Given the description of an element on the screen output the (x, y) to click on. 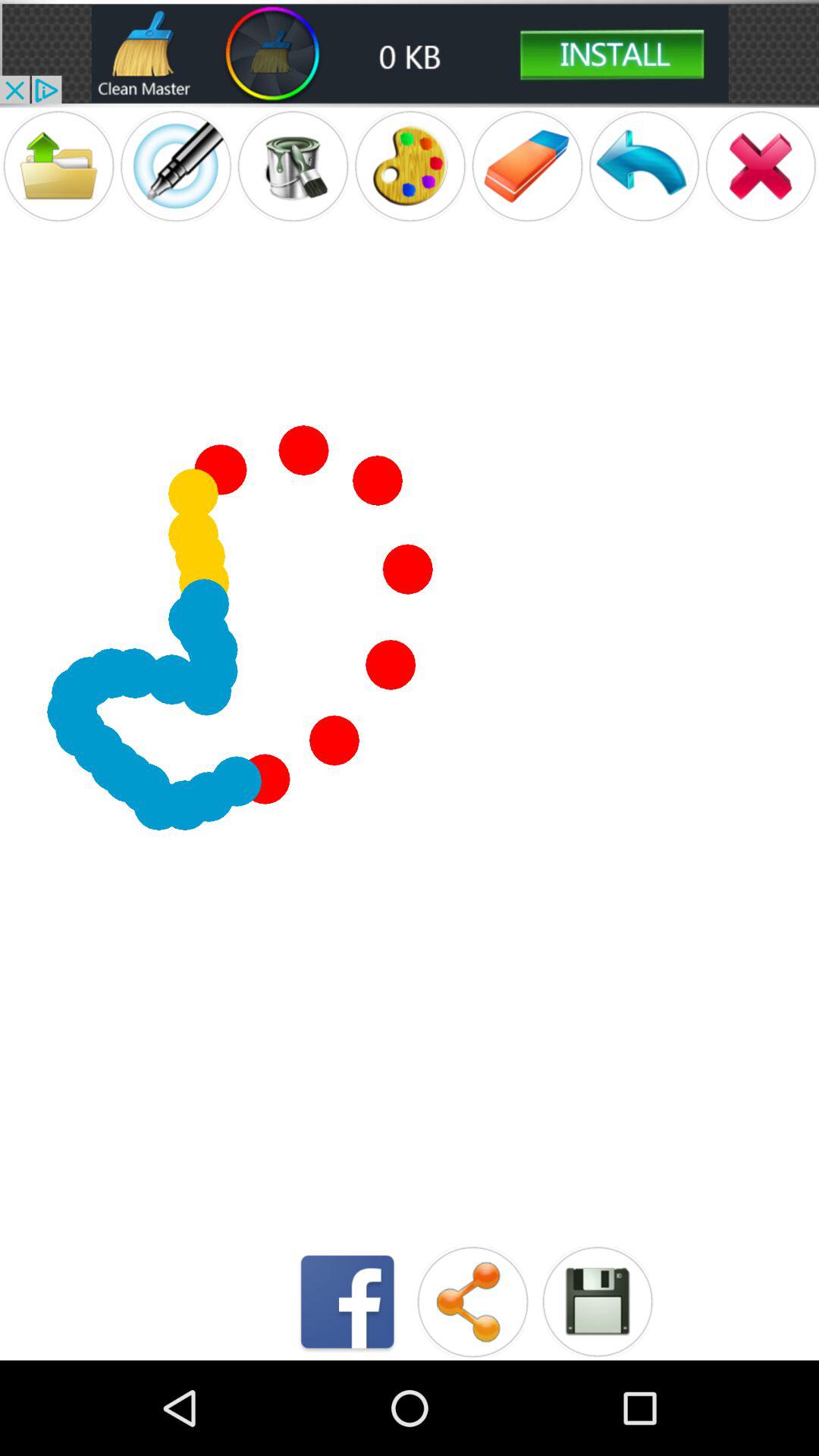
go to previous (643, 165)
